Given the description of an element on the screen output the (x, y) to click on. 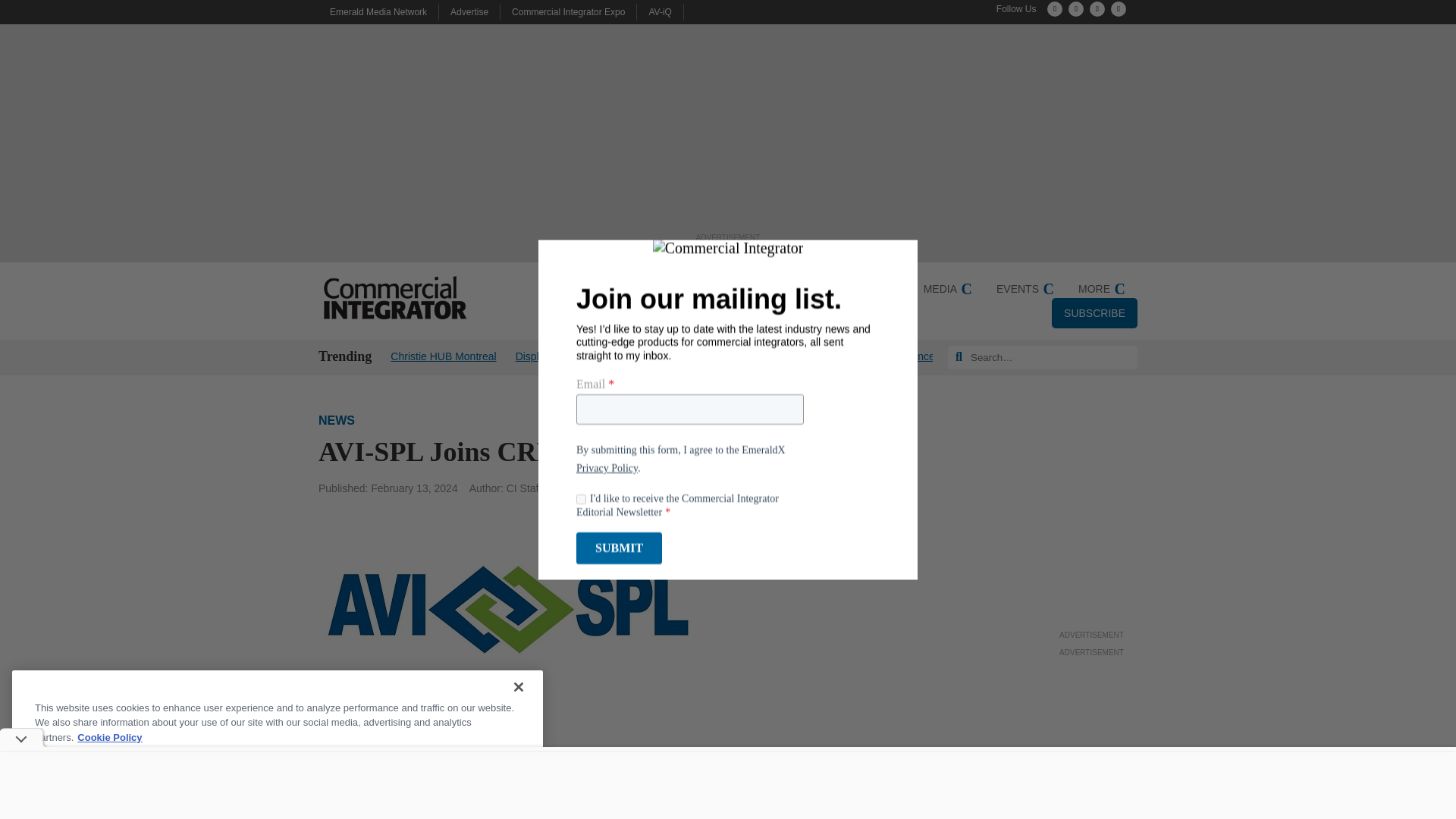
Follow on X (1054, 8)
Emerald Media Network (378, 11)
TOPICS (683, 288)
Commercial Integrator Expo (568, 11)
Follow on Youtube (1117, 8)
Follow on Facebook (1075, 8)
RESOURCES (776, 288)
AV-iQ (659, 11)
3rd party ad content (1091, 531)
Follow on LinkedIn (1097, 8)
Advertise (468, 11)
LATEST (605, 288)
